Given the description of an element on the screen output the (x, y) to click on. 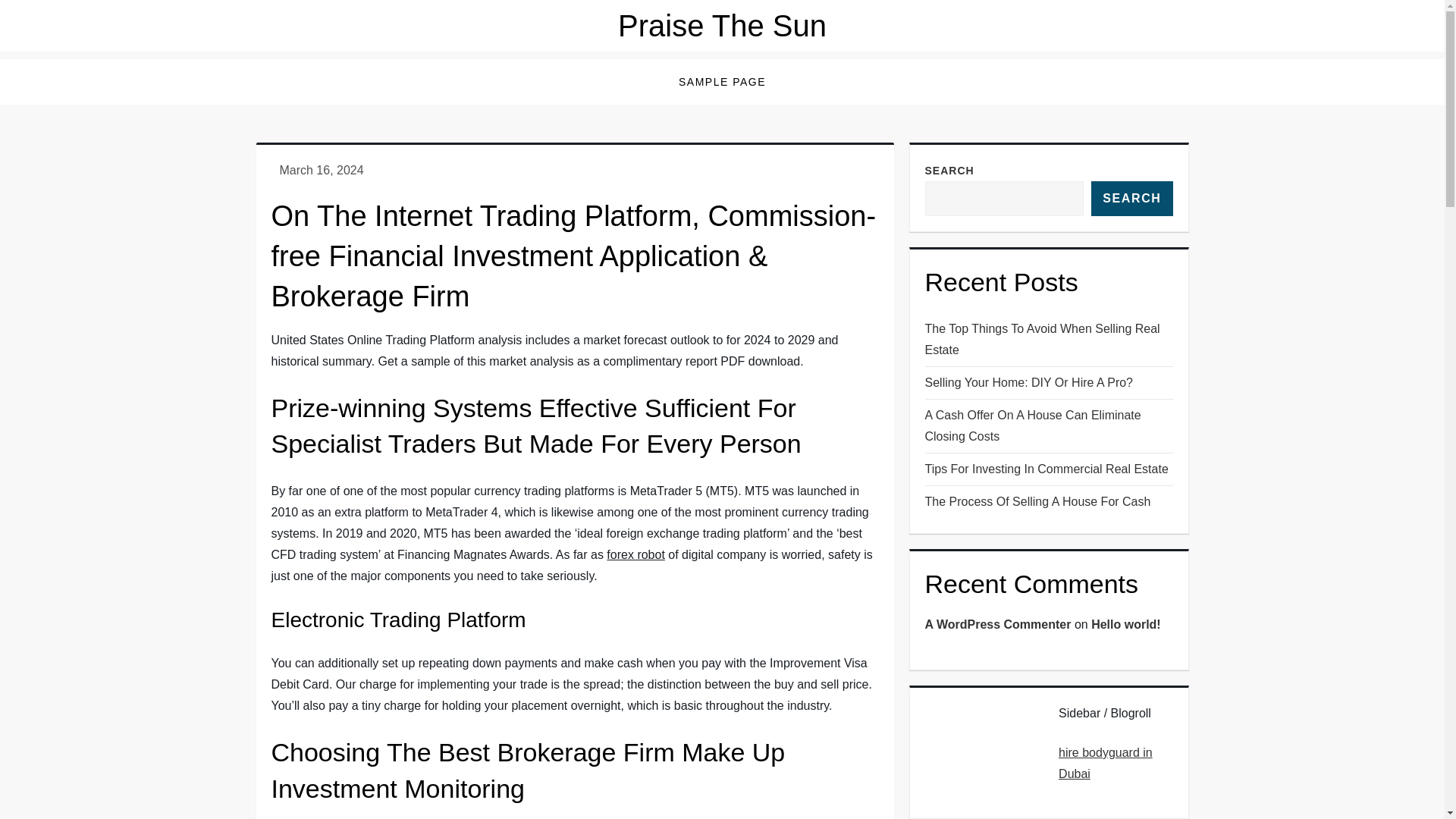
Selling Your Home: DIY Or Hire A Pro? (1029, 382)
A WordPress Commenter (997, 624)
forex robot (635, 554)
Tips For Investing In Commercial Real Estate (1046, 468)
March 16, 2024 (320, 169)
The Top Things To Avoid When Selling Real Estate (1048, 339)
SAMPLE PAGE (721, 81)
hire bodyguard in Dubai (1105, 763)
SEARCH (1131, 198)
Praise The Sun (722, 25)
The Process Of Selling A House For Cash (1037, 501)
Hello world! (1125, 624)
A Cash Offer On A House Can Eliminate Closing Costs (1048, 425)
